Given the description of an element on the screen output the (x, y) to click on. 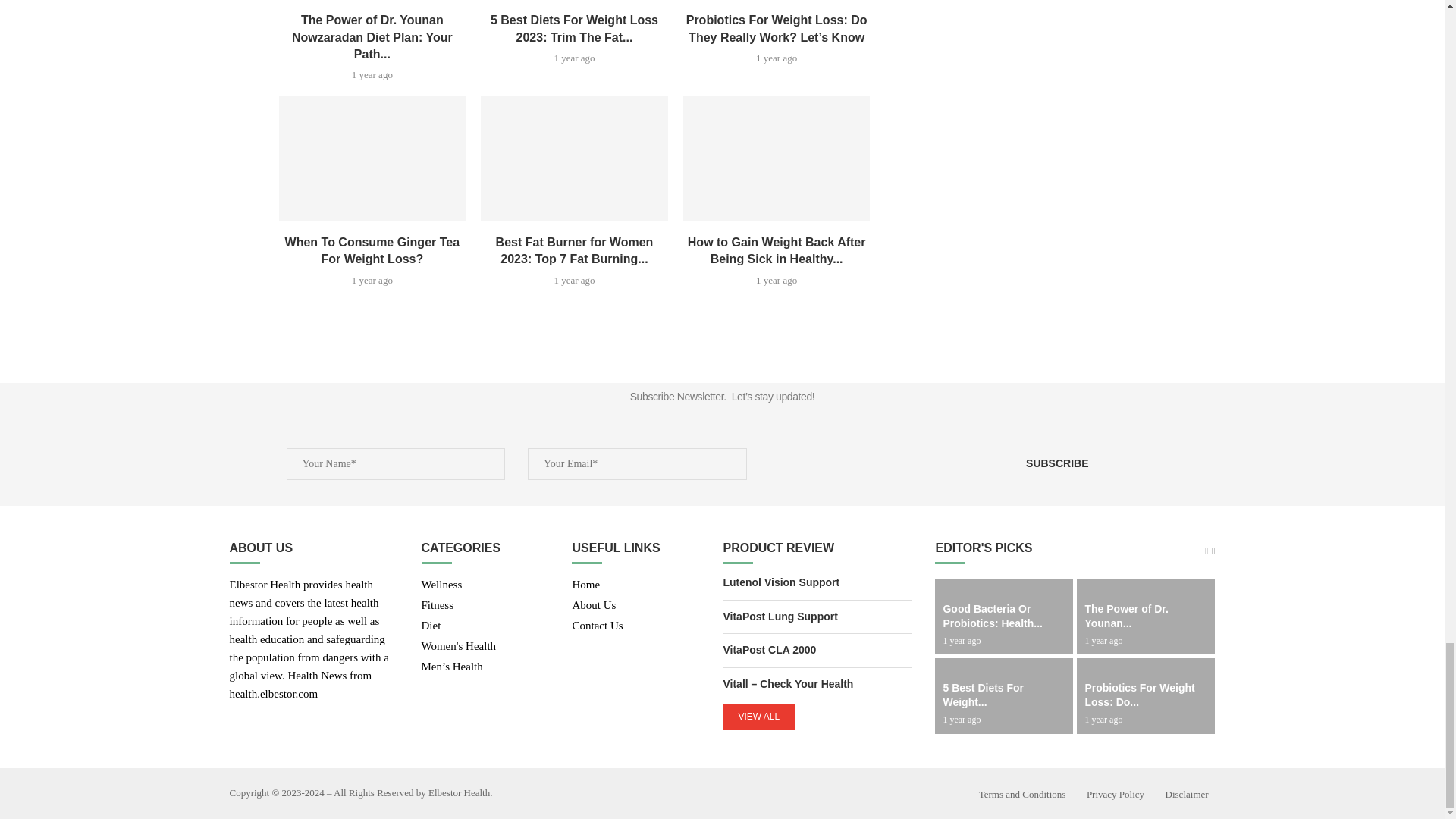
When To Consume Ginger Tea For Weight Loss? (372, 158)
Subscribe (1056, 463)
Best Fat Burner for Women 2023: Top 7 Fat Burning Pills (574, 158)
